Given the description of an element on the screen output the (x, y) to click on. 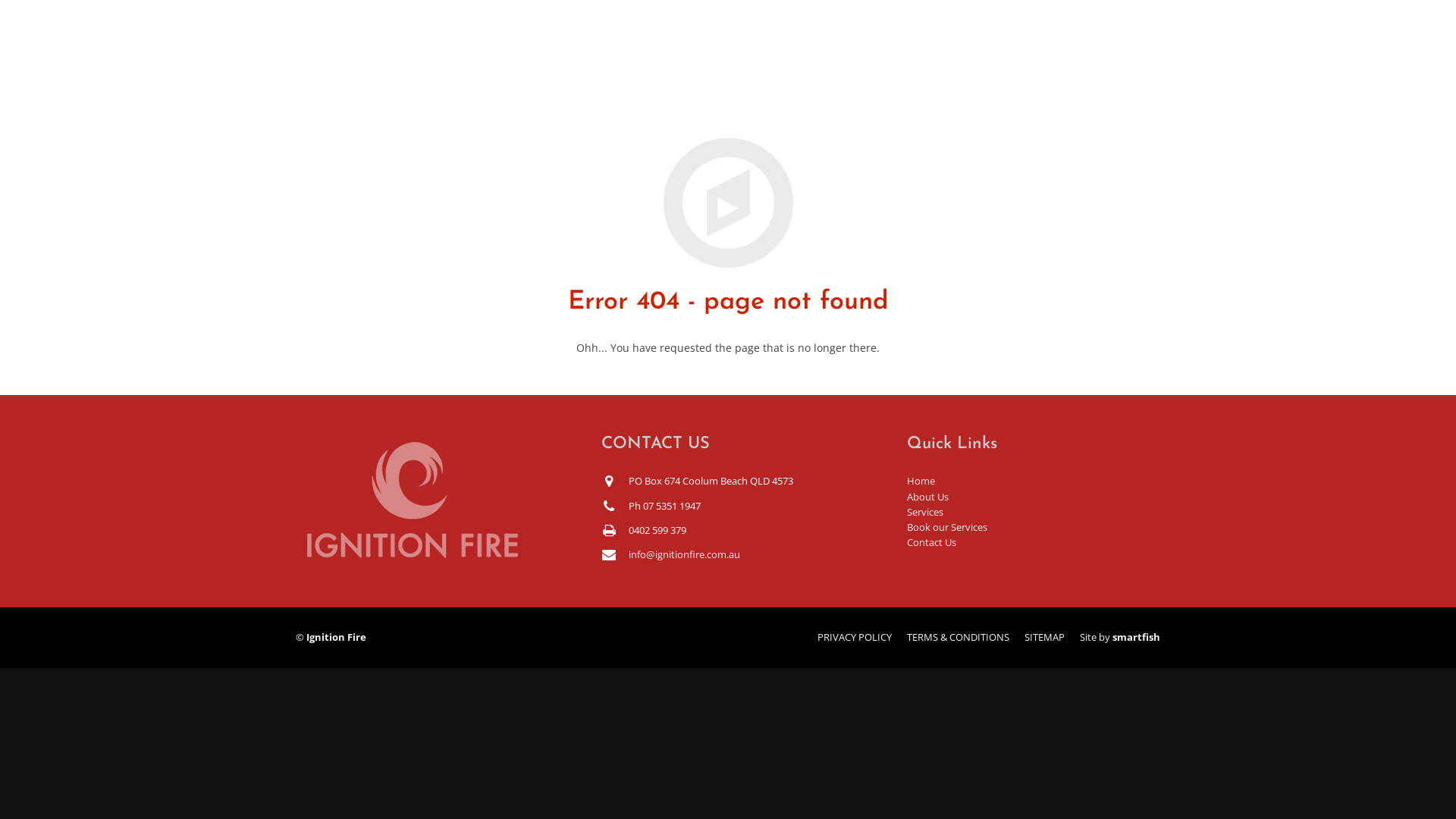
Site by smartfish Element type: text (1119, 636)
info@ignitionfire.com.au Element type: text (684, 554)
HOME Element type: text (672, 45)
Contact Us Element type: text (931, 542)
BOOK OUR SERVICES Element type: text (970, 45)
SERVICES Element type: text (844, 45)
Home Element type: text (920, 480)
SITEMAP Element type: text (1044, 636)
PRIVACY POLICY Element type: text (854, 636)
ABOUT US Element type: text (753, 45)
CONTACT US Element type: text (1105, 45)
TERMS & CONDITIONS Element type: text (957, 636)
Book our Services Element type: text (946, 526)
About Us Element type: text (927, 496)
Services Element type: text (924, 511)
